Given the description of an element on the screen output the (x, y) to click on. 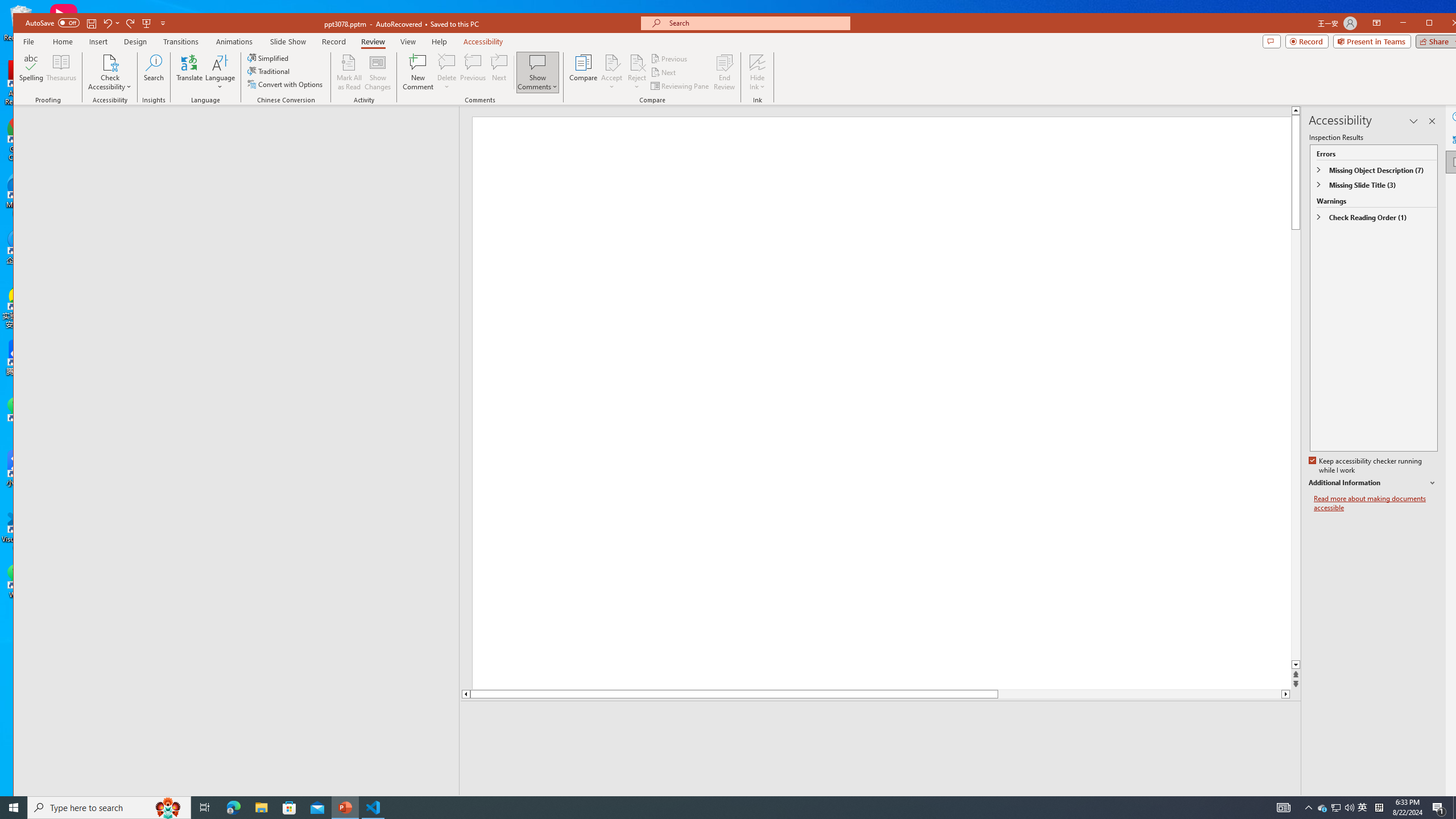
Convert with Options... (286, 83)
Compare (582, 72)
Slide Show Previous On (1217, 802)
New Comment (418, 72)
Accept (611, 72)
Accept Change (611, 61)
